Given the description of an element on the screen output the (x, y) to click on. 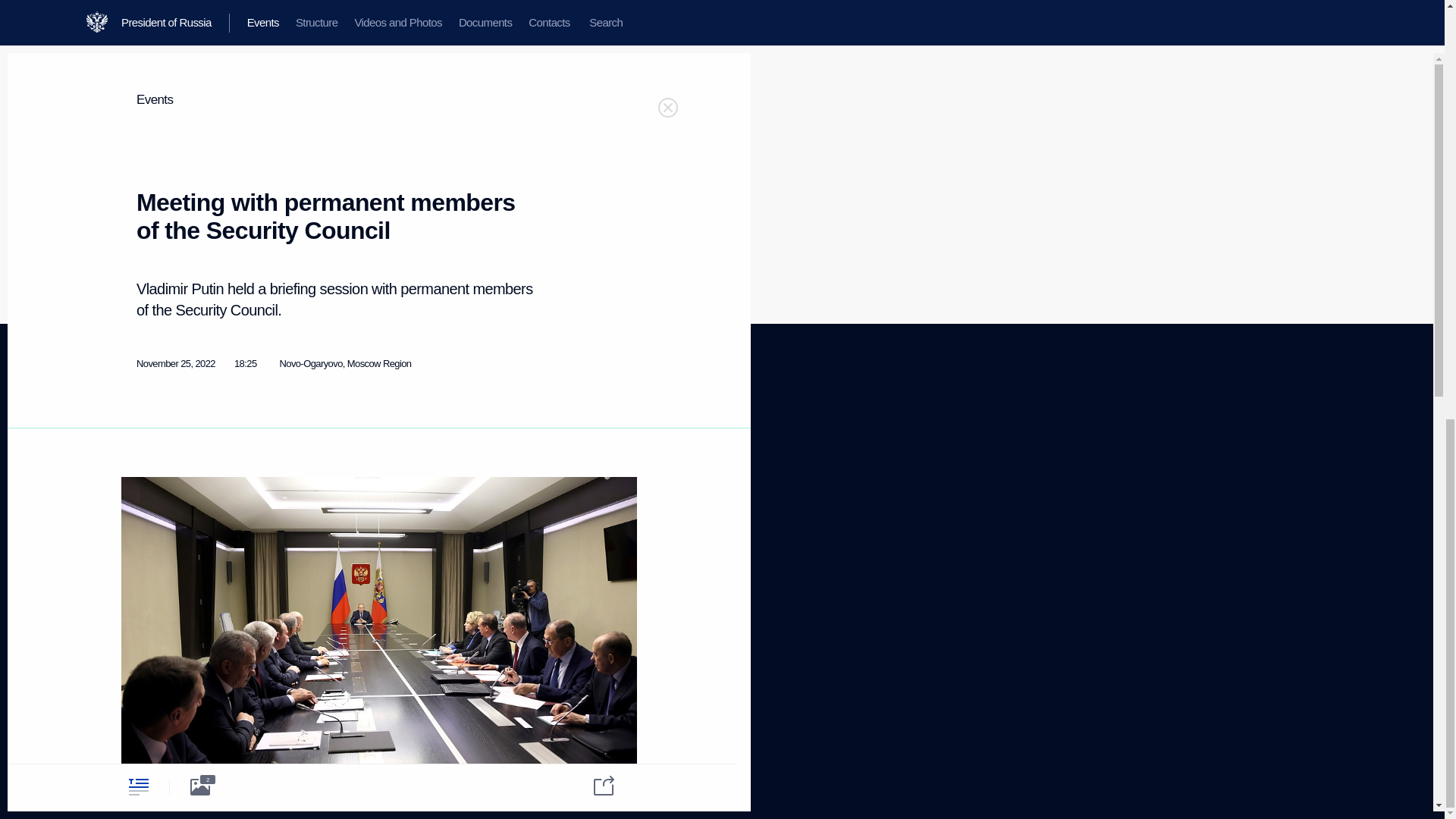
Search (134, 535)
Creative Commons Attribution 4.0 International (582, 764)
Using website content (574, 460)
Videos and Photos (158, 478)
Send a Letter (284, 510)
Documents (143, 497)
Contact website team (573, 510)
Version for People with Disabilities (165, 668)
Directory (138, 625)
Personal data of website users (579, 485)
Structure (138, 460)
Subscribe (140, 606)
Mikhail Mishustin (429, 10)
Valentina Matviyenko (240, 29)
Contacts (138, 516)
